Given the description of an element on the screen output the (x, y) to click on. 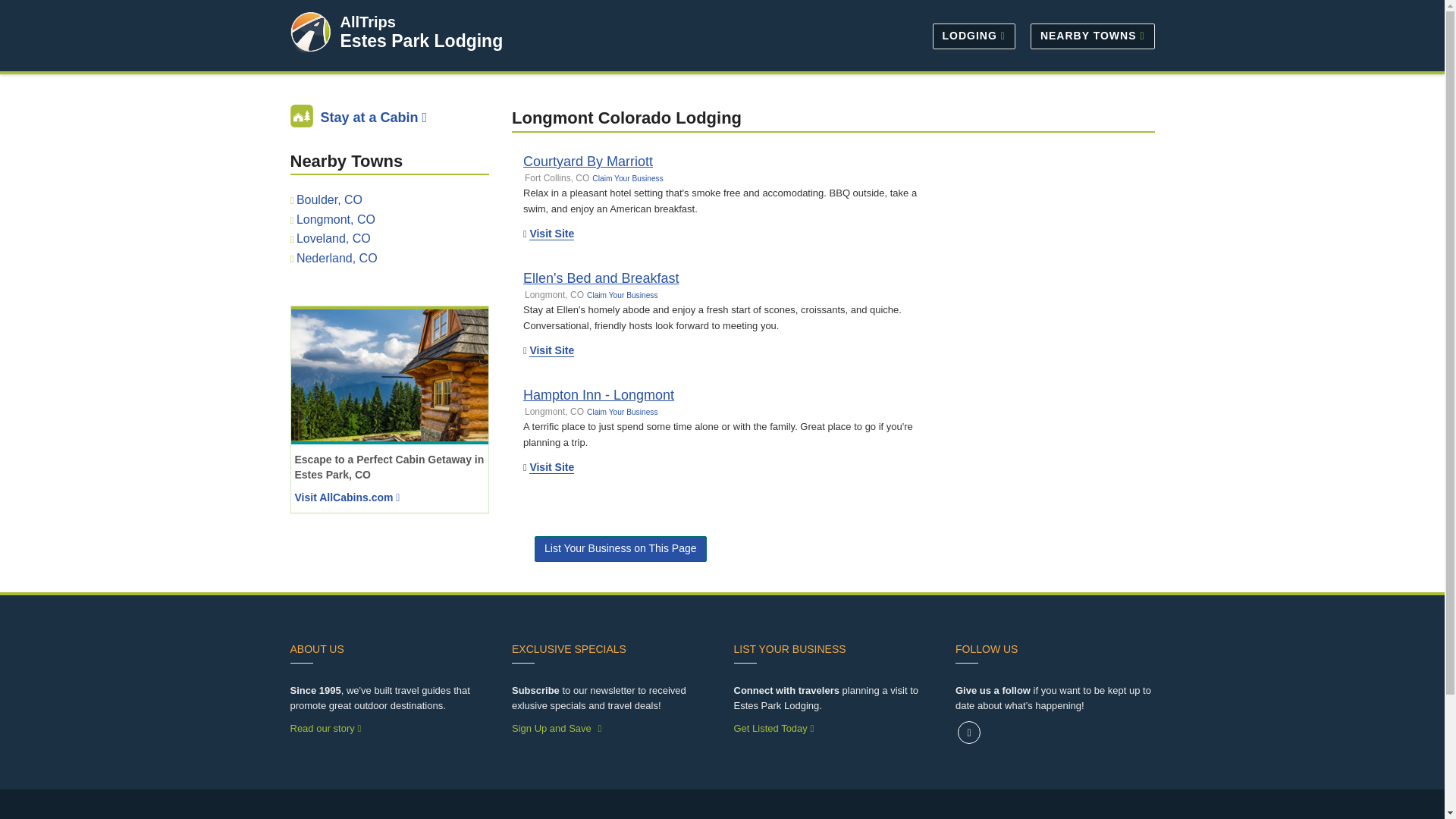
Visit Site (551, 350)
Estes Park Lodging (420, 40)
AllTrips (366, 21)
Ellen's Bed and Breakfast (600, 278)
Courtyard By Marriott (587, 160)
NEARBY TOWNS (1088, 35)
Claim Your Business (622, 411)
Visit Site (551, 467)
LODGING (973, 35)
Claim Your Business (622, 295)
Claim Your Business (627, 178)
Hampton Inn - Longmont (598, 394)
Visit Site (551, 233)
